Given the description of an element on the screen output the (x, y) to click on. 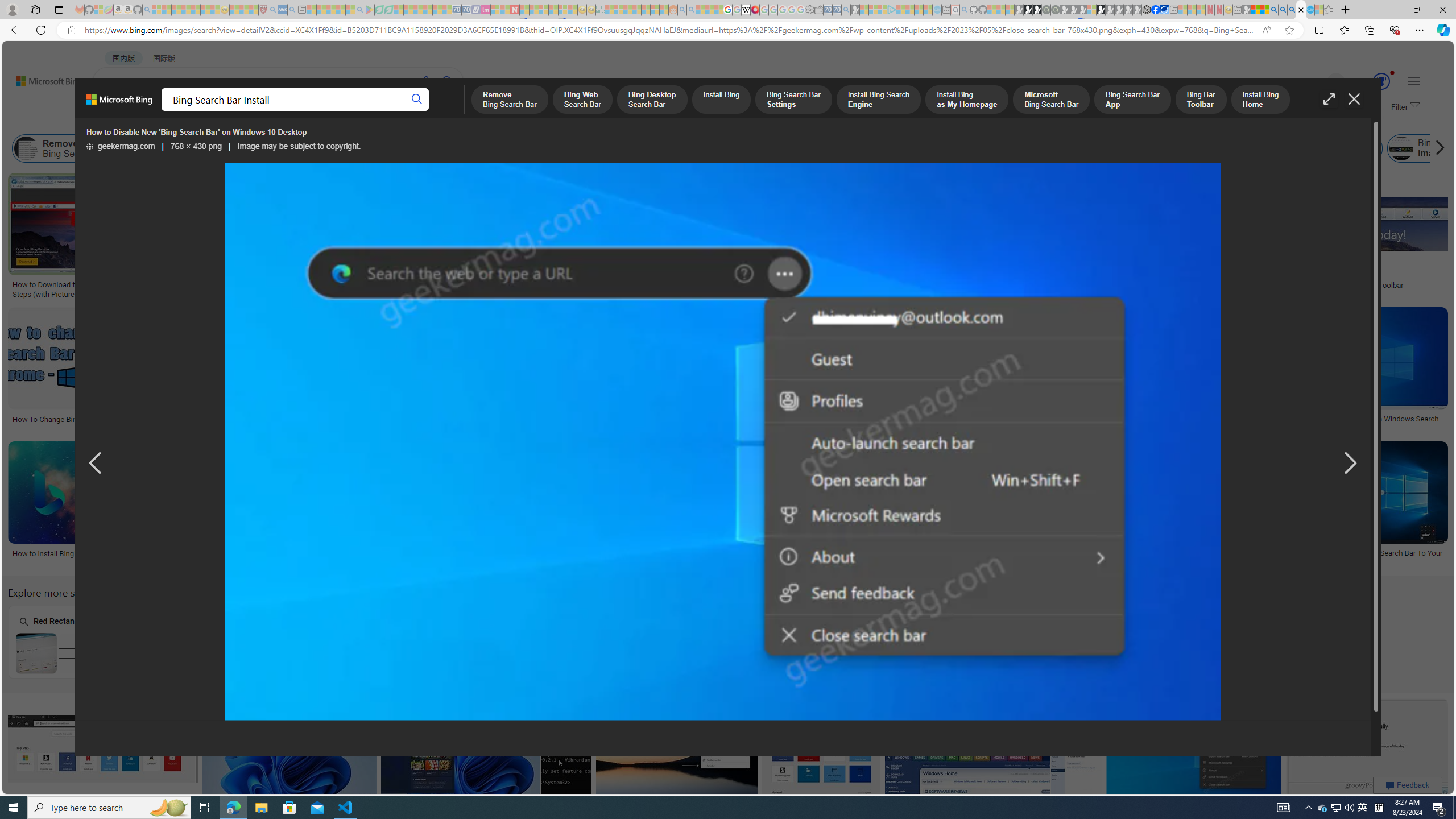
Remove Bing Search Bar (66, 148)
Bing Search Bar Settings (429, 148)
Nordace - Cooler Bags (1146, 9)
1:35 (482, 183)
WEB (114, 111)
Bing Web Search Bar (139, 148)
